Given the description of an element on the screen output the (x, y) to click on. 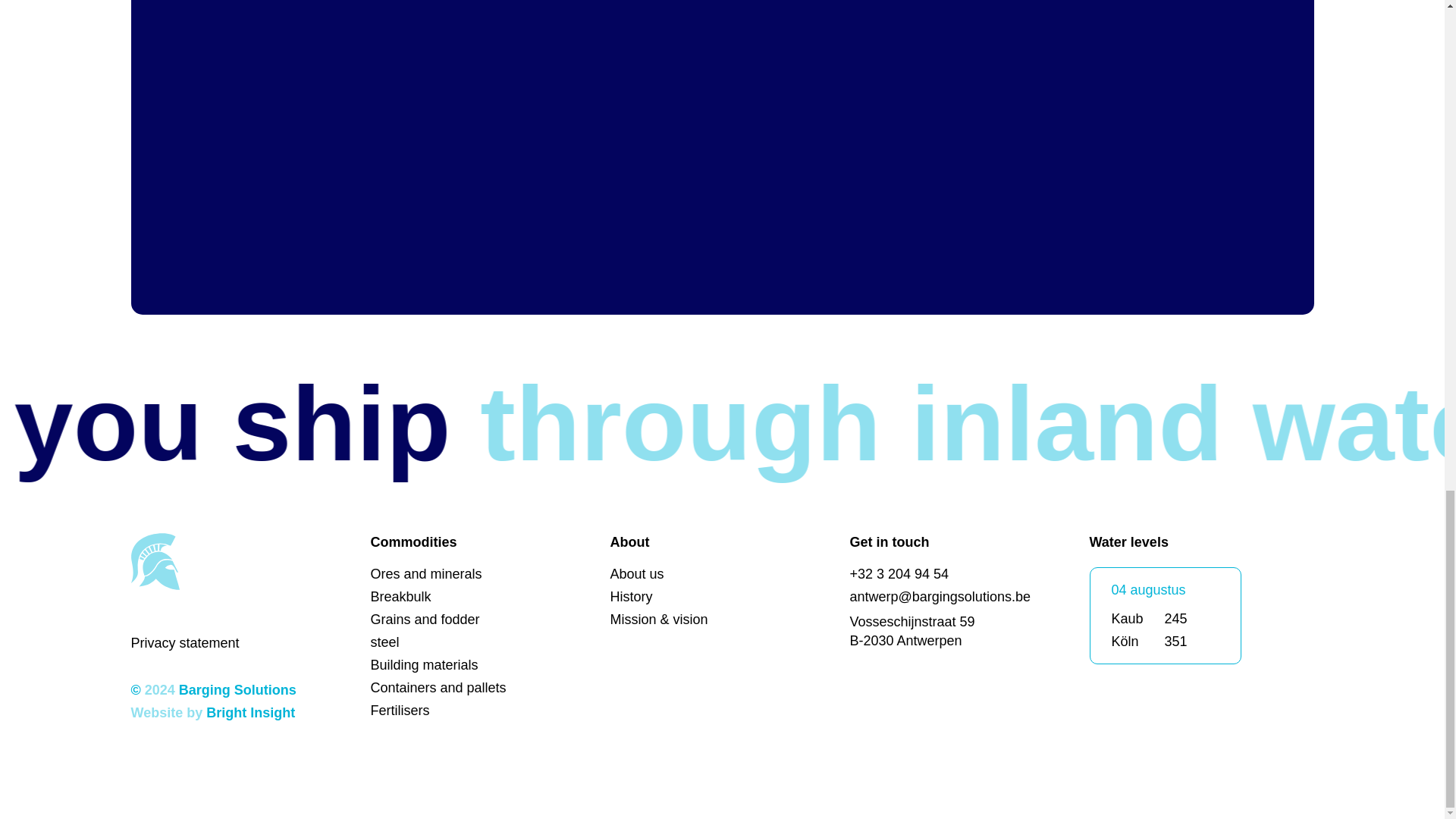
Bright Insight (250, 712)
